Given the description of an element on the screen output the (x, y) to click on. 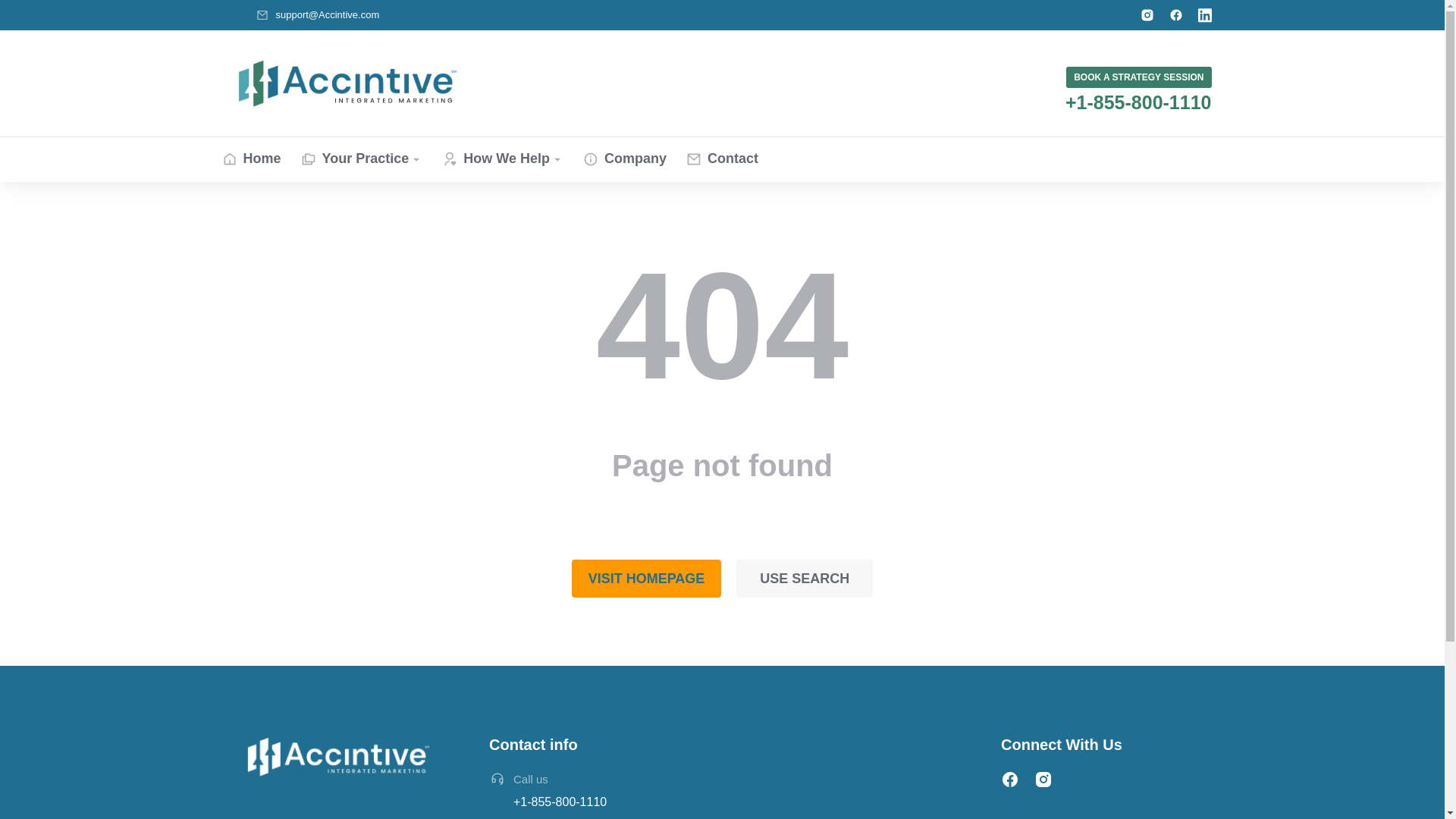
How We Help (502, 158)
Your Practice (362, 158)
BOOK A STRATEGY SESSION (1138, 76)
Home (251, 158)
